Given the description of an element on the screen output the (x, y) to click on. 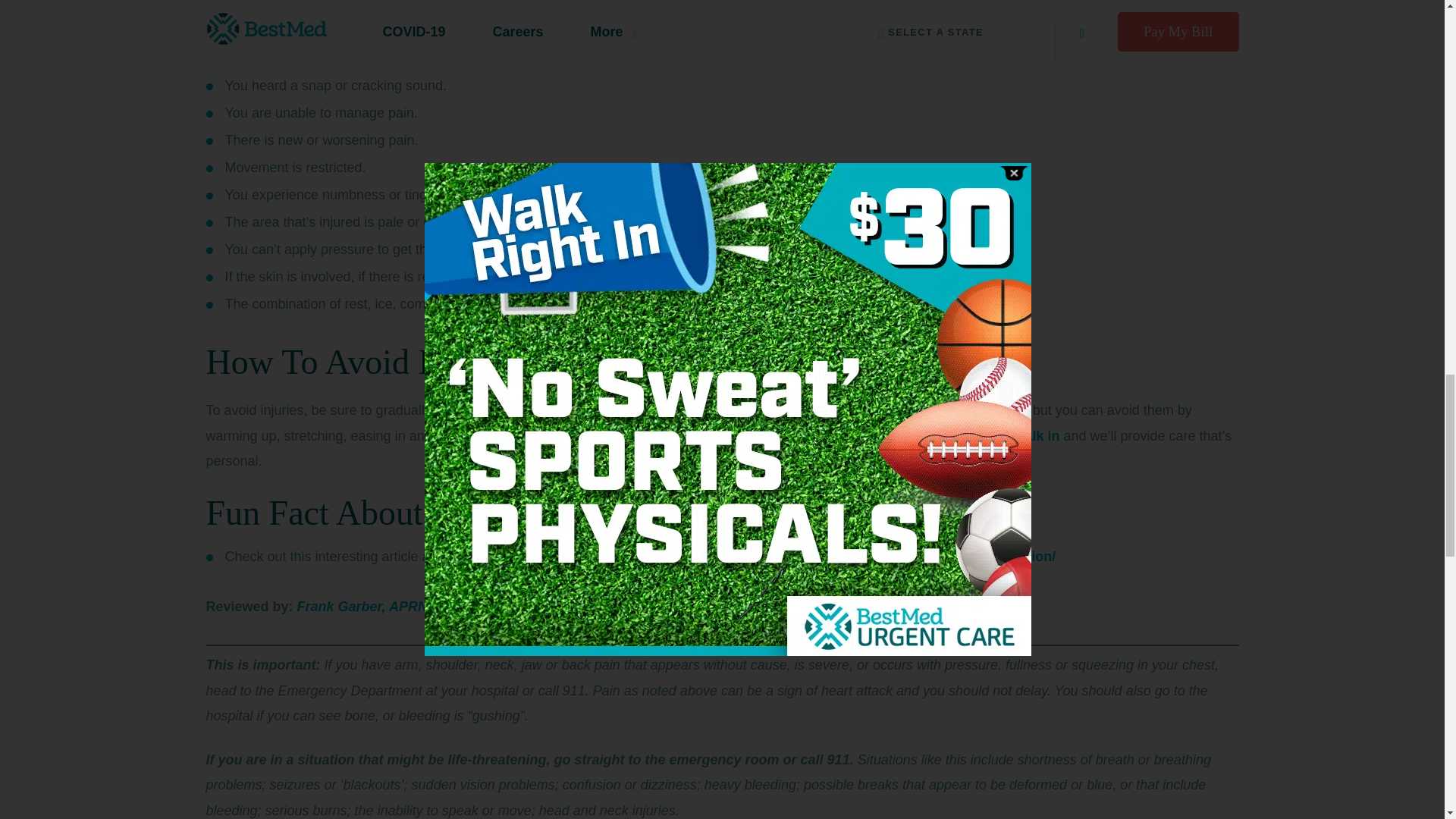
Frank Garber, APRN, FNP-C (387, 606)
urgent care in Billings (447, 20)
BestMed Urgent Care (275, 46)
Walk in (1035, 435)
